Given the description of an element on the screen output the (x, y) to click on. 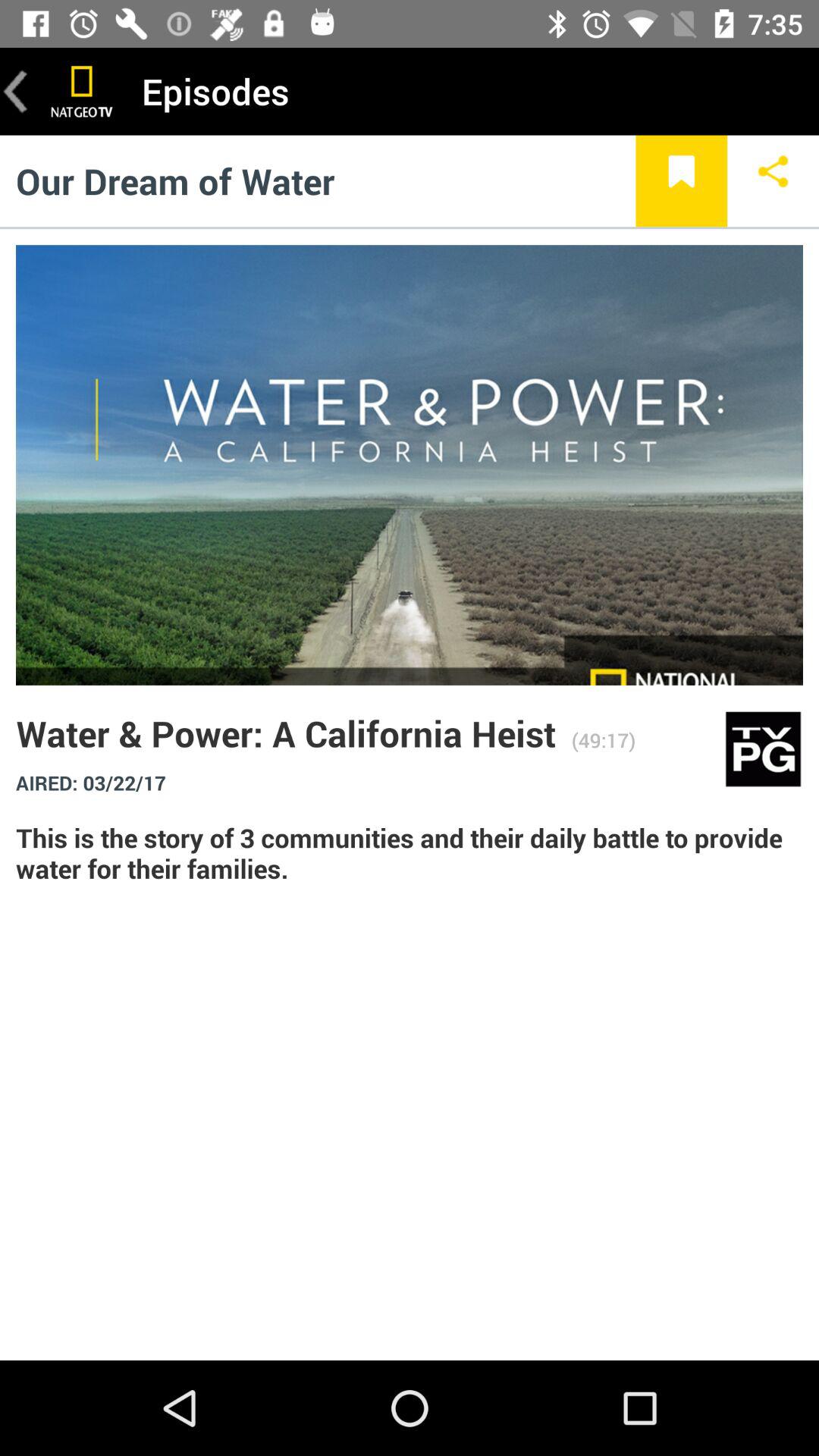
share button (773, 180)
